Given the description of an element on the screen output the (x, y) to click on. 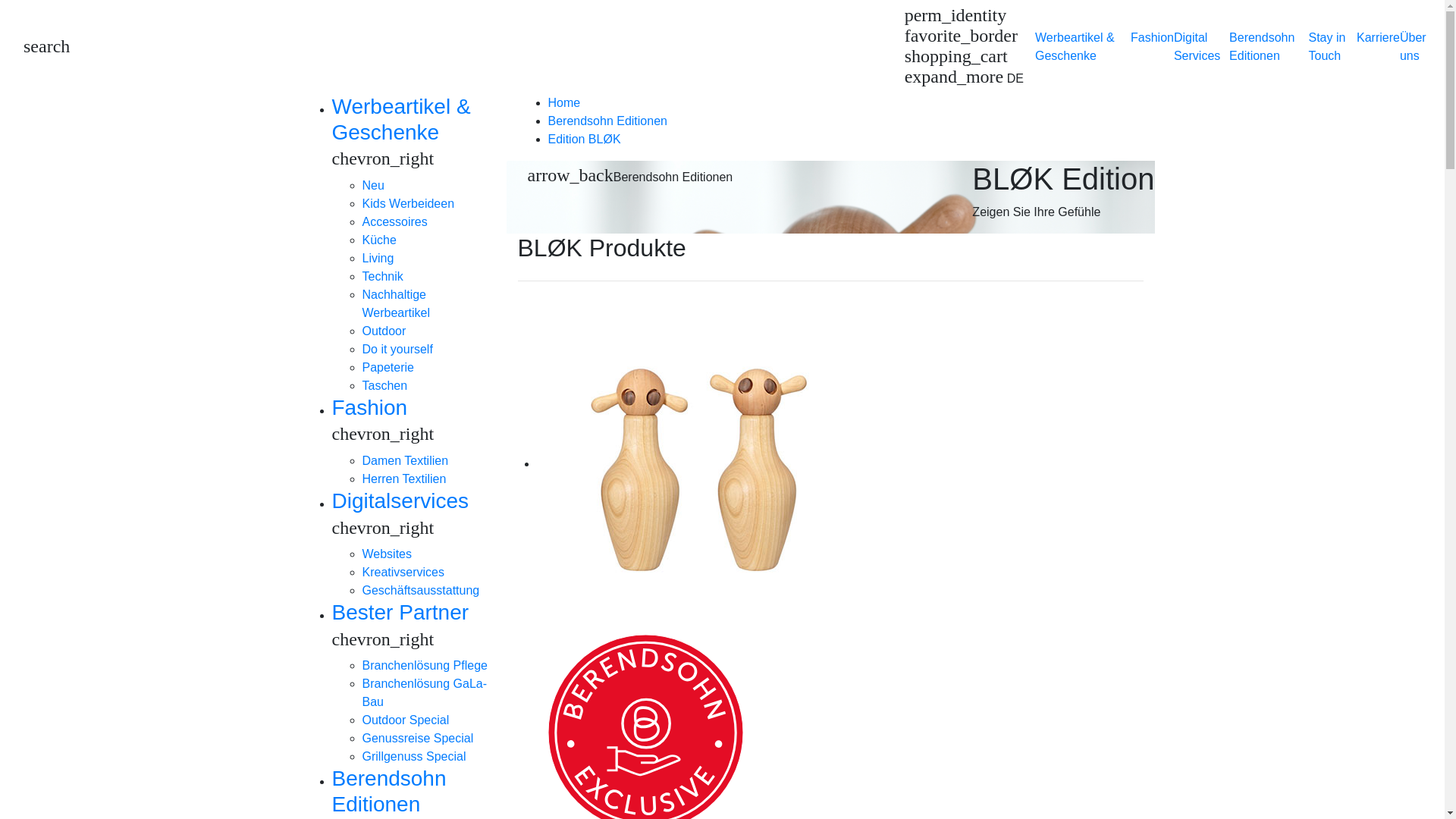
Digitalservices Element type: text (400, 500)
Bester Partner Element type: text (400, 612)
Berendsohn Editionen Element type: text (389, 790)
Stay in Touch Element type: text (1327, 46)
Do it yourself Element type: text (397, 348)
Websites Element type: text (387, 553)
Living Element type: text (378, 257)
Accessoires Element type: text (394, 221)
Technik Element type: text (382, 275)
Herren Textilien Element type: text (404, 478)
Berendsohn Editionen Element type: text (606, 120)
Taschen Element type: text (384, 385)
Outdoor Element type: text (384, 330)
Kids Werbeideen Element type: text (408, 203)
arrow_backBerendsohn Editionen Element type: text (629, 175)
Neu Element type: text (373, 184)
Nachhaltige Werbeartikel Element type: text (396, 303)
Fashion Element type: text (369, 407)
Damen Textilien Element type: text (405, 460)
Grillgenuss Special Element type: text (414, 755)
Digital Services Element type: text (1196, 46)
Papeterie Element type: text (388, 366)
Kreativservices Element type: text (403, 571)
Outdoor Special Element type: text (405, 719)
Berendsohn Editionen Element type: text (1261, 46)
Genussreise Special Element type: text (417, 737)
Home Element type: text (563, 102)
Werbeartikel & Geschenke Element type: text (401, 119)
Karriere Element type: text (1377, 37)
Fashion Element type: text (1151, 37)
Werbeartikel & Geschenke Element type: text (1074, 46)
